Given the description of an element on the screen output the (x, y) to click on. 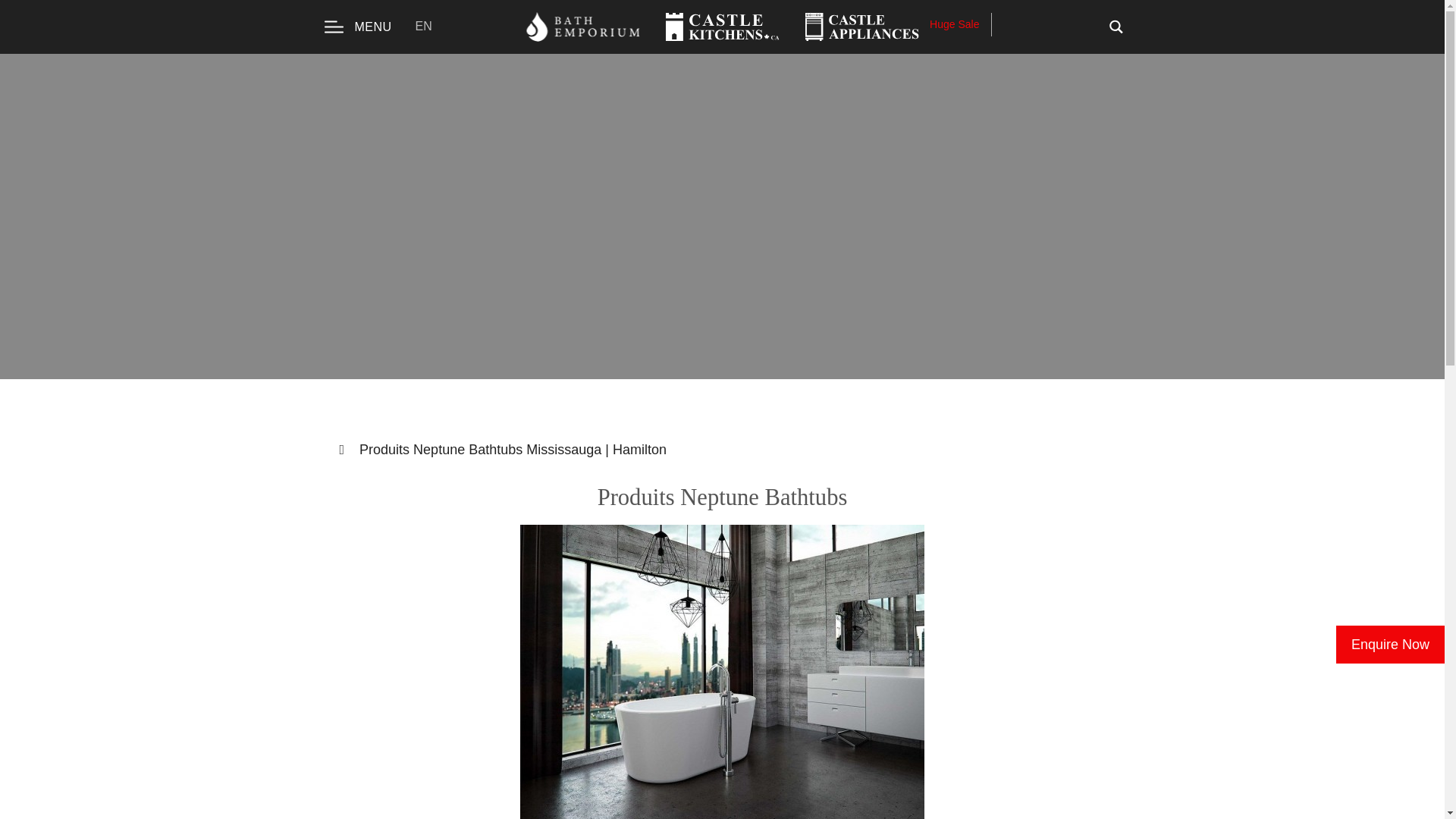
 MENU (357, 27)
Huge Sale (960, 24)
